Given the description of an element on the screen output the (x, y) to click on. 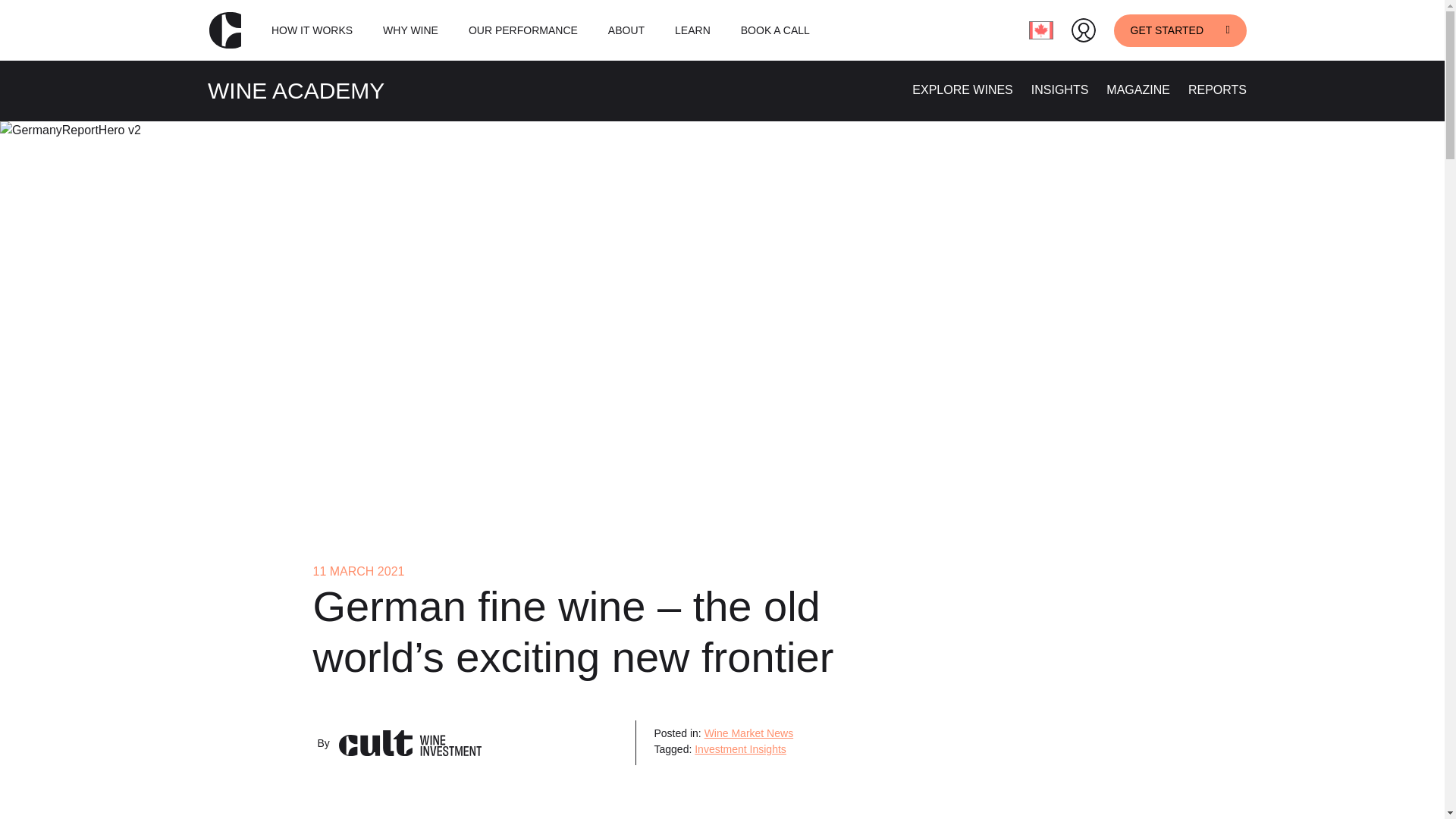
WHY WINE (410, 30)
OUR PERFORMANCE (523, 30)
Wine Market News (748, 733)
EXPLORE WINES (961, 90)
BOOK A CALL (775, 30)
WINE ACADEMY (296, 90)
MAGAZINE (1138, 90)
HOW IT WORKS (311, 30)
REPORTS (1217, 90)
GET STARTED (1179, 29)
